Given the description of an element on the screen output the (x, y) to click on. 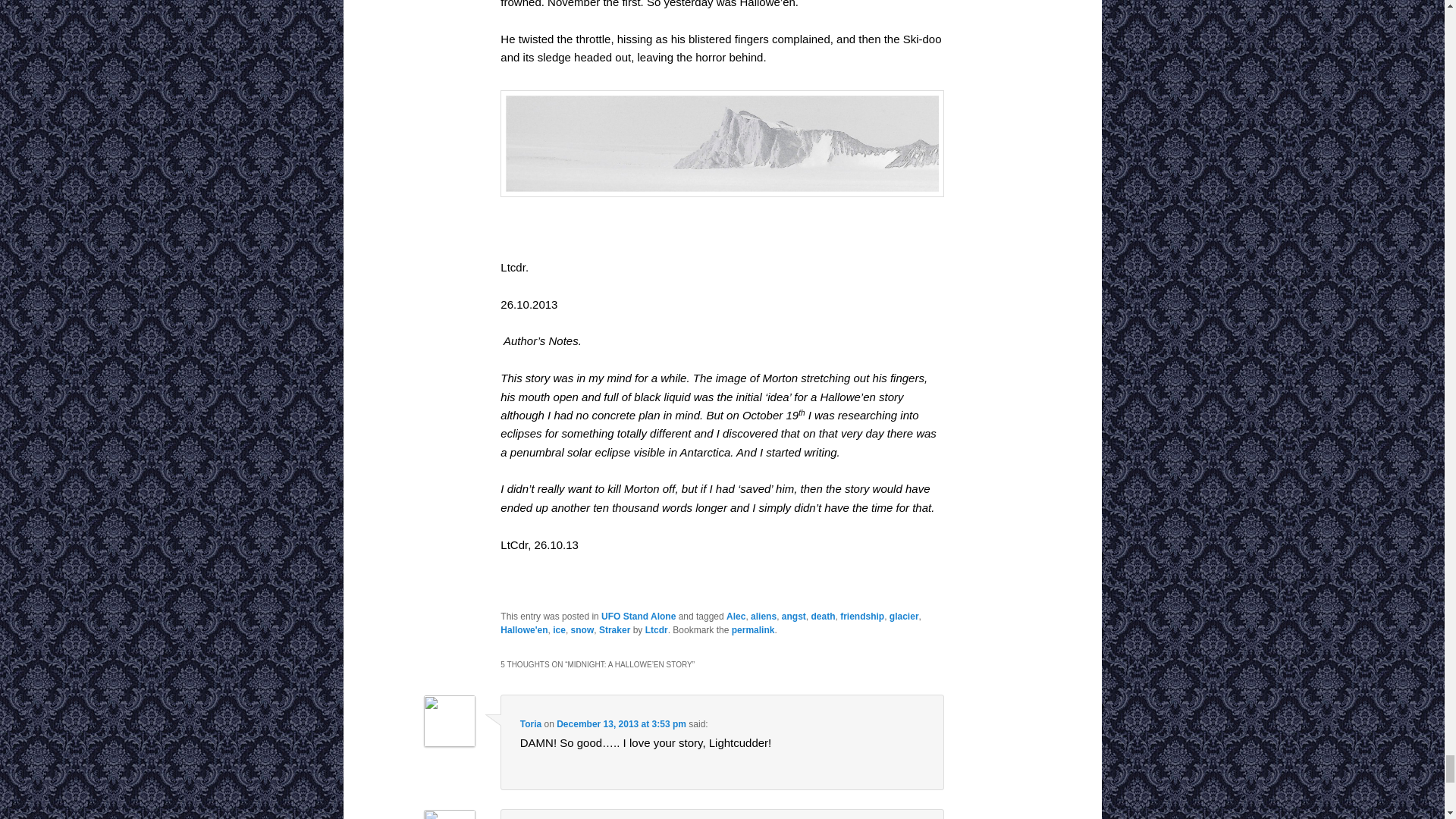
Hallowe'en (523, 629)
friendship (861, 615)
angst (793, 615)
glacier (903, 615)
death (822, 615)
Alec (735, 615)
aliens (763, 615)
UFO Stand Alone (638, 615)
snow (582, 629)
ice (559, 629)
